Given the description of an element on the screen output the (x, y) to click on. 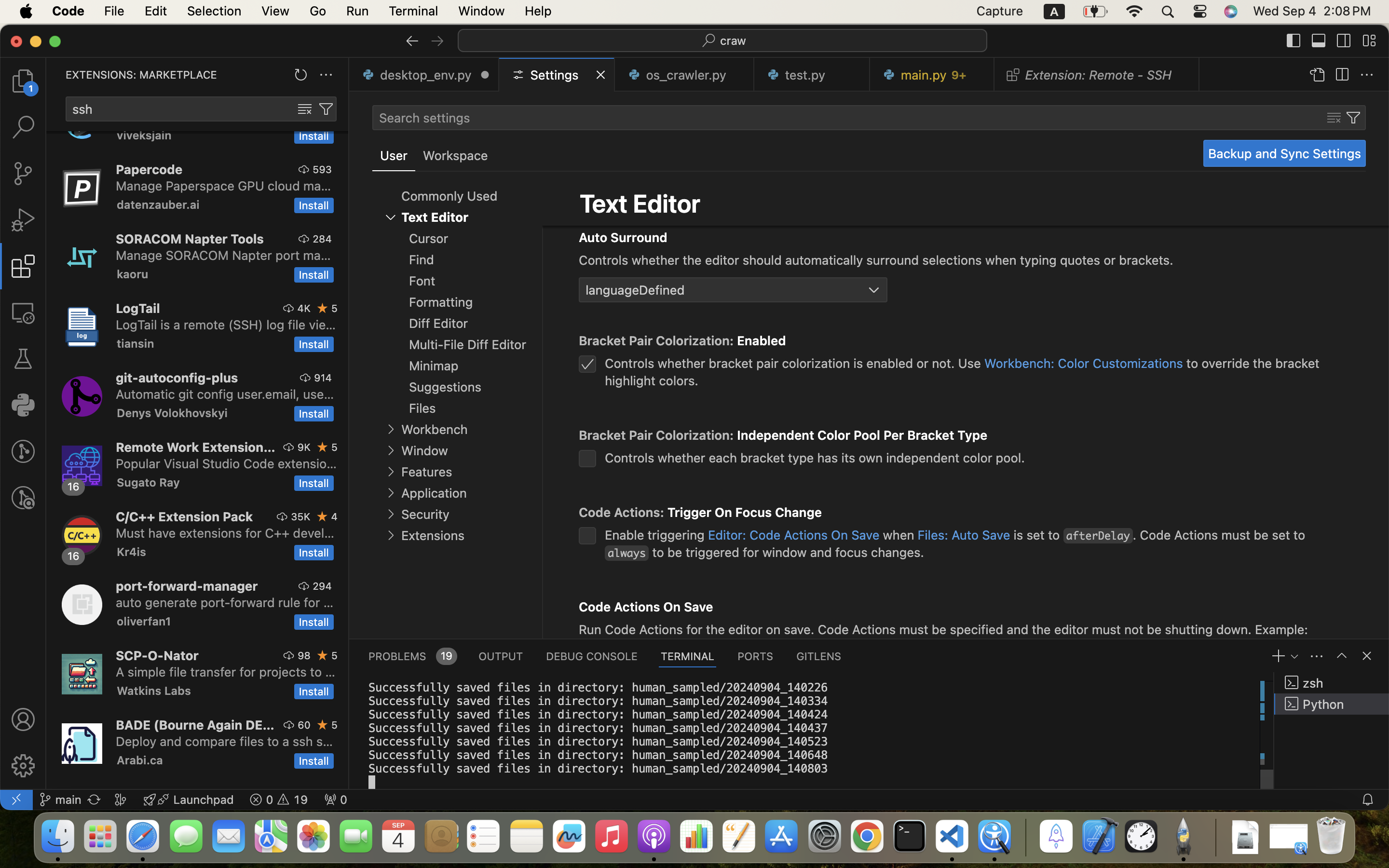
Diff Editor Element type: AXStaticText (438, 323)
 Element type: AXButton (1316, 74)
 Element type: AXGroup (23, 719)
port-forward-manager Element type: AXStaticText (186, 585)
Application Element type: AXStaticText (433, 493)
